Given the description of an element on the screen output the (x, y) to click on. 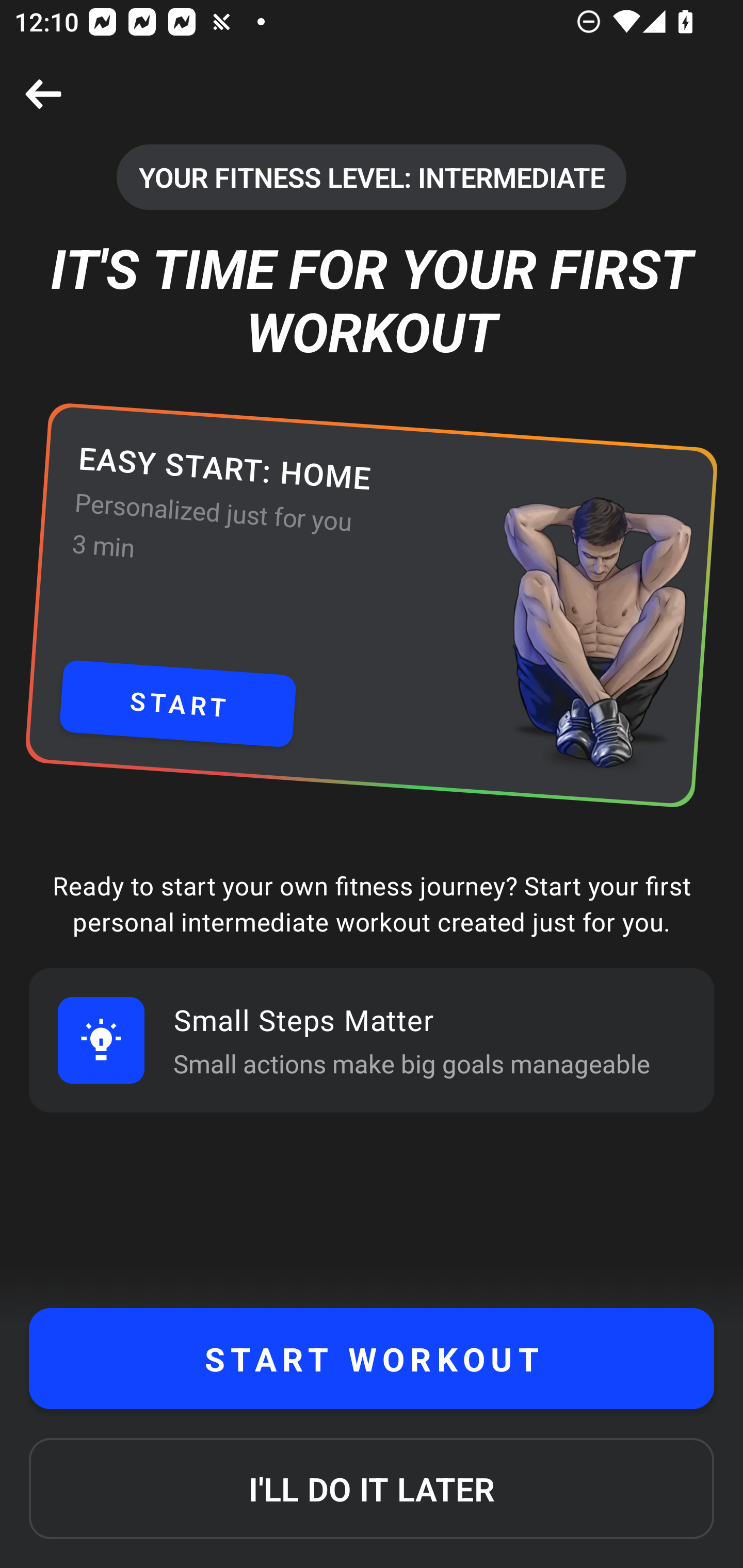
Close screen (43, 93)
START (177, 703)
START WORKOUT (371, 1358)
I'LL DO IT LATER (371, 1488)
